Given the description of an element on the screen output the (x, y) to click on. 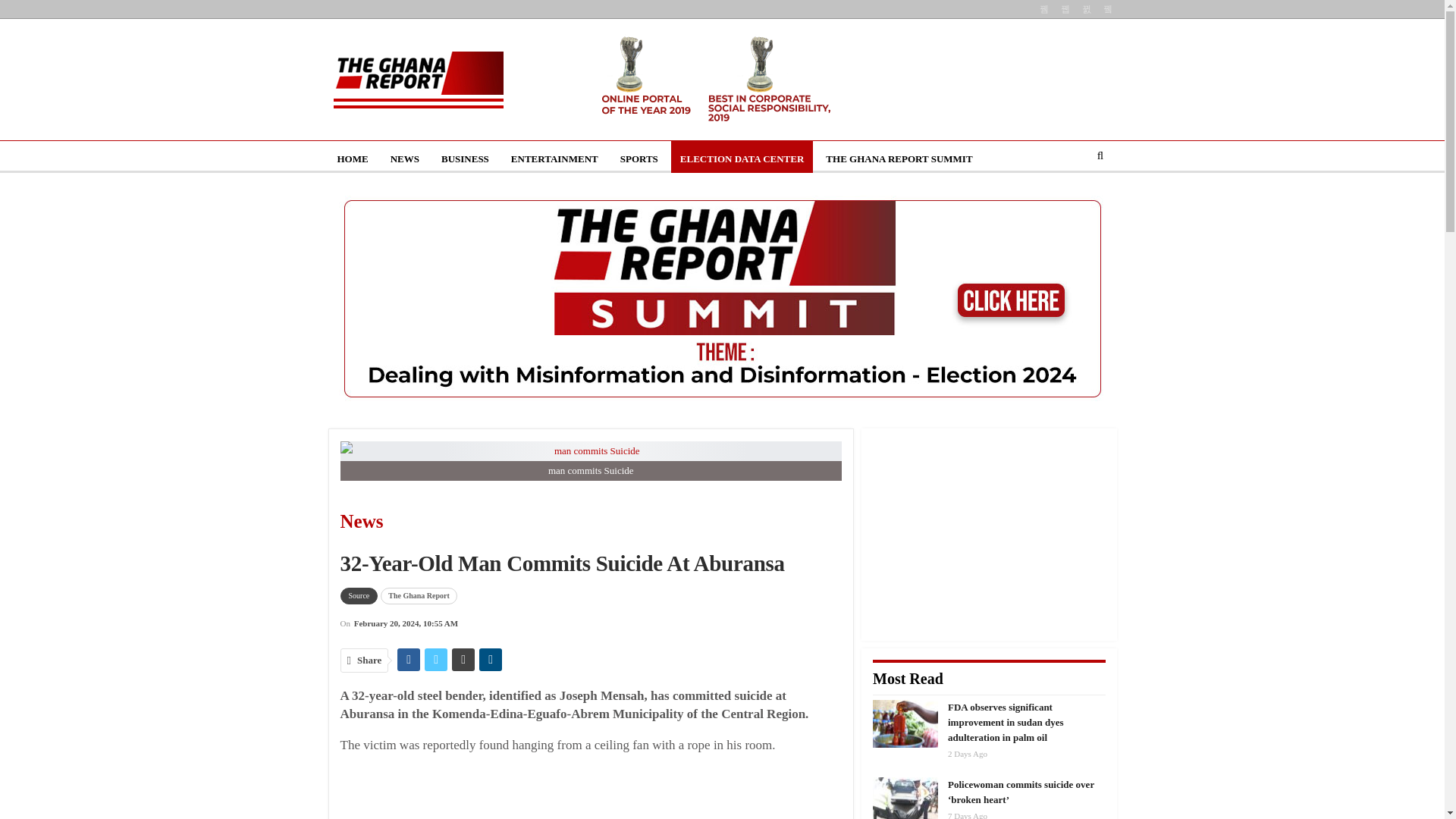
HOME (352, 158)
SPORTS (638, 158)
ENTERTAINMENT (554, 158)
News (453, 522)
THE GHANA REPORT SUMMIT (898, 158)
NEWS (404, 158)
ELECTION DATA CENTER (742, 158)
Advertisement (601, 793)
BUSINESS (464, 158)
The Ghana Report (418, 596)
